Given the description of an element on the screen output the (x, y) to click on. 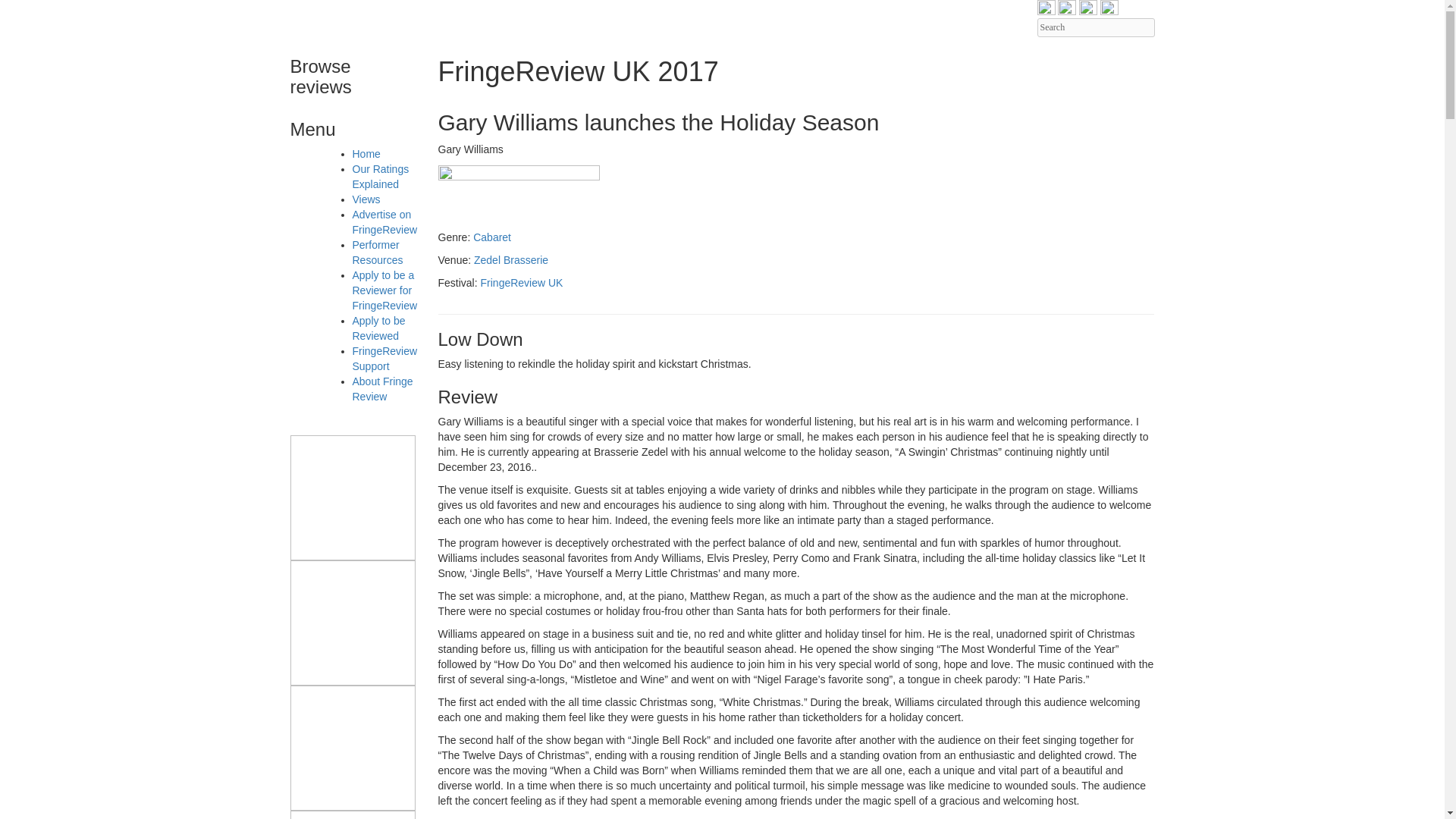
Our Ratings Explained (380, 176)
Search for: (1095, 27)
Performer Resources (377, 252)
Views (366, 199)
Advertise on FringeReview (384, 221)
Apply to be Reviewed (378, 328)
Home (366, 153)
About Fringe Review (382, 388)
Apply to be a Reviewer for FringeReview (384, 290)
FringeReview Support (384, 358)
